Given the description of an element on the screen output the (x, y) to click on. 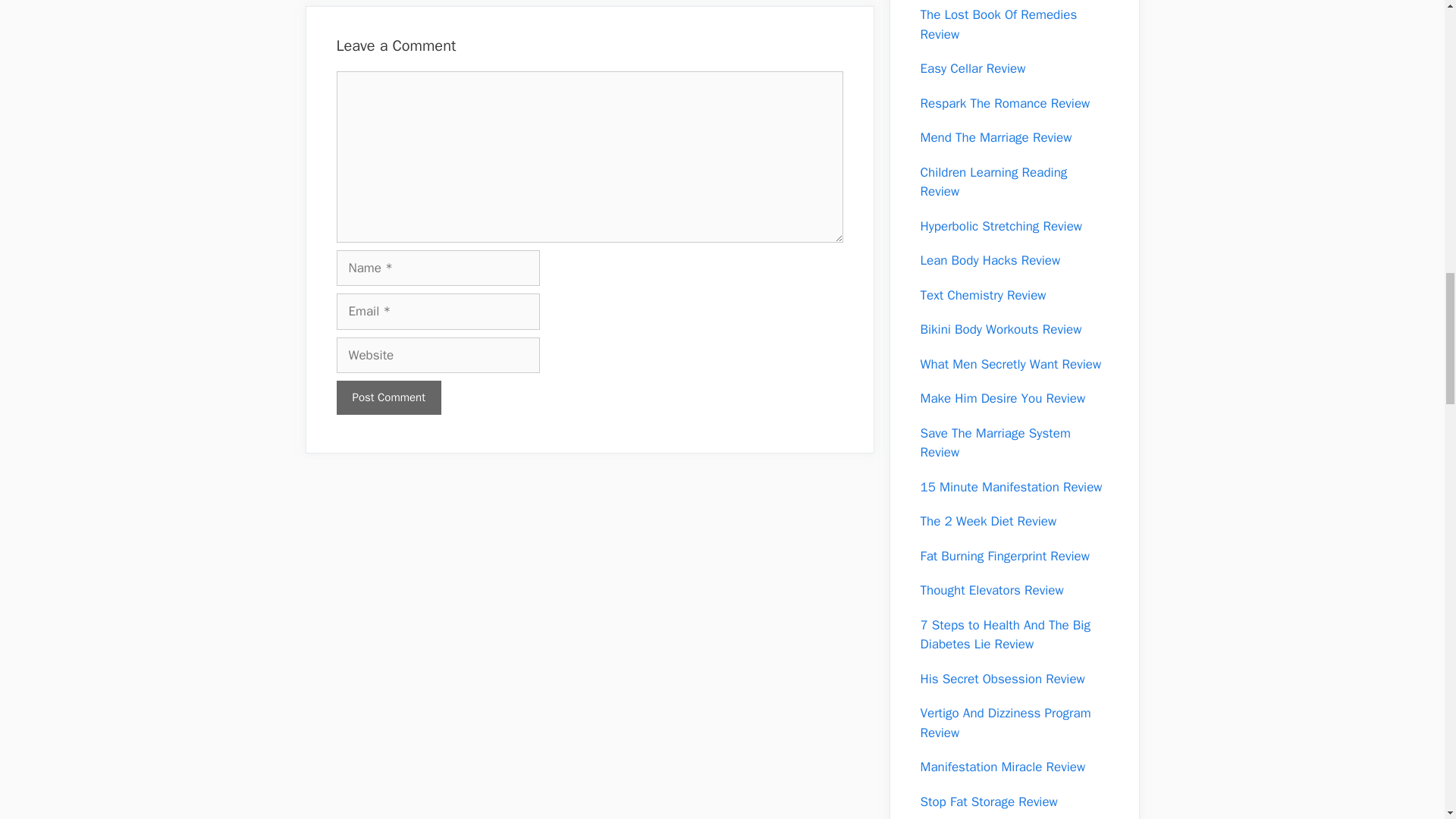
Post Comment (388, 397)
